Given the description of an element on the screen output the (x, y) to click on. 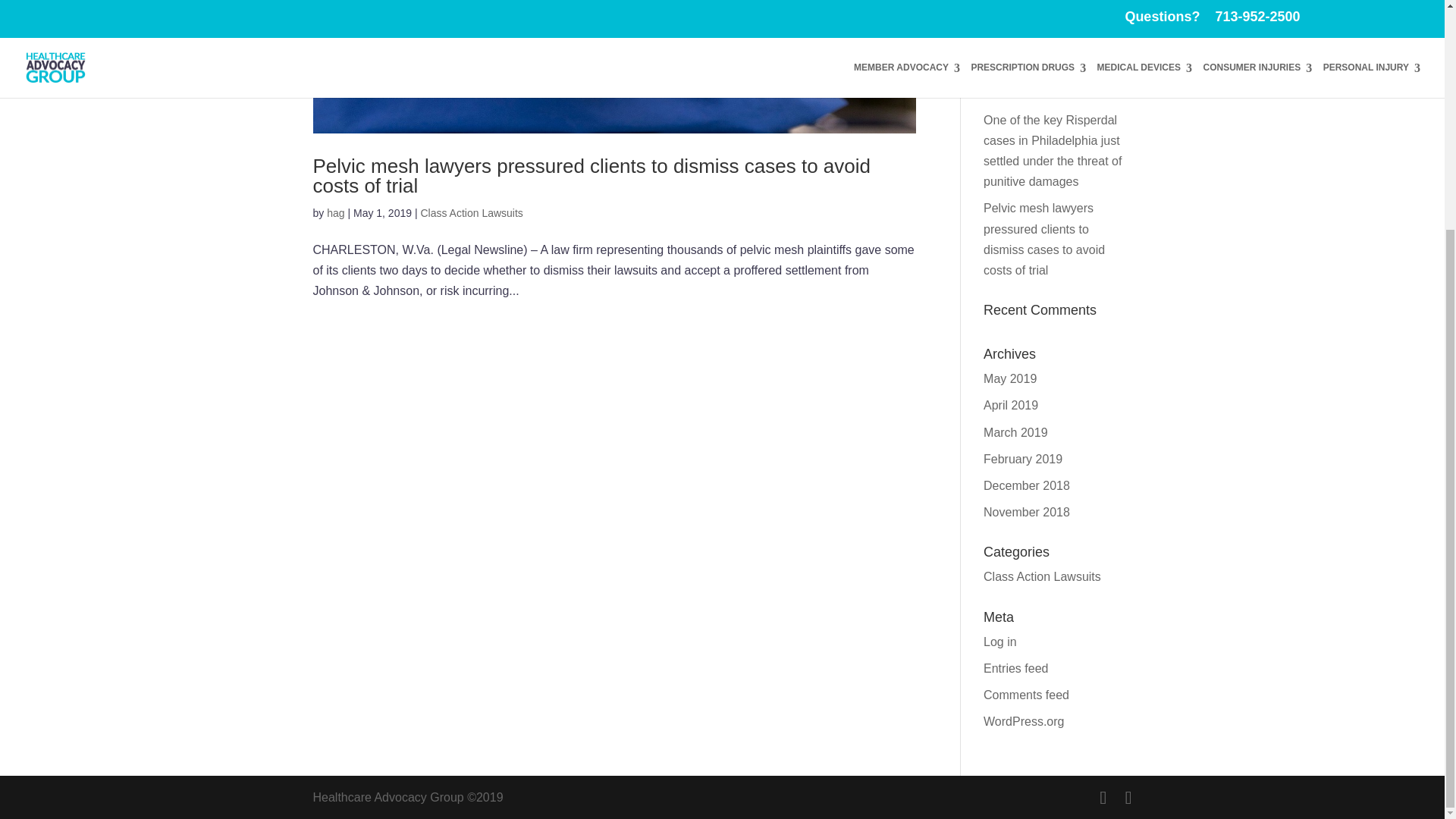
Posts by hag (334, 213)
